Given the description of an element on the screen output the (x, y) to click on. 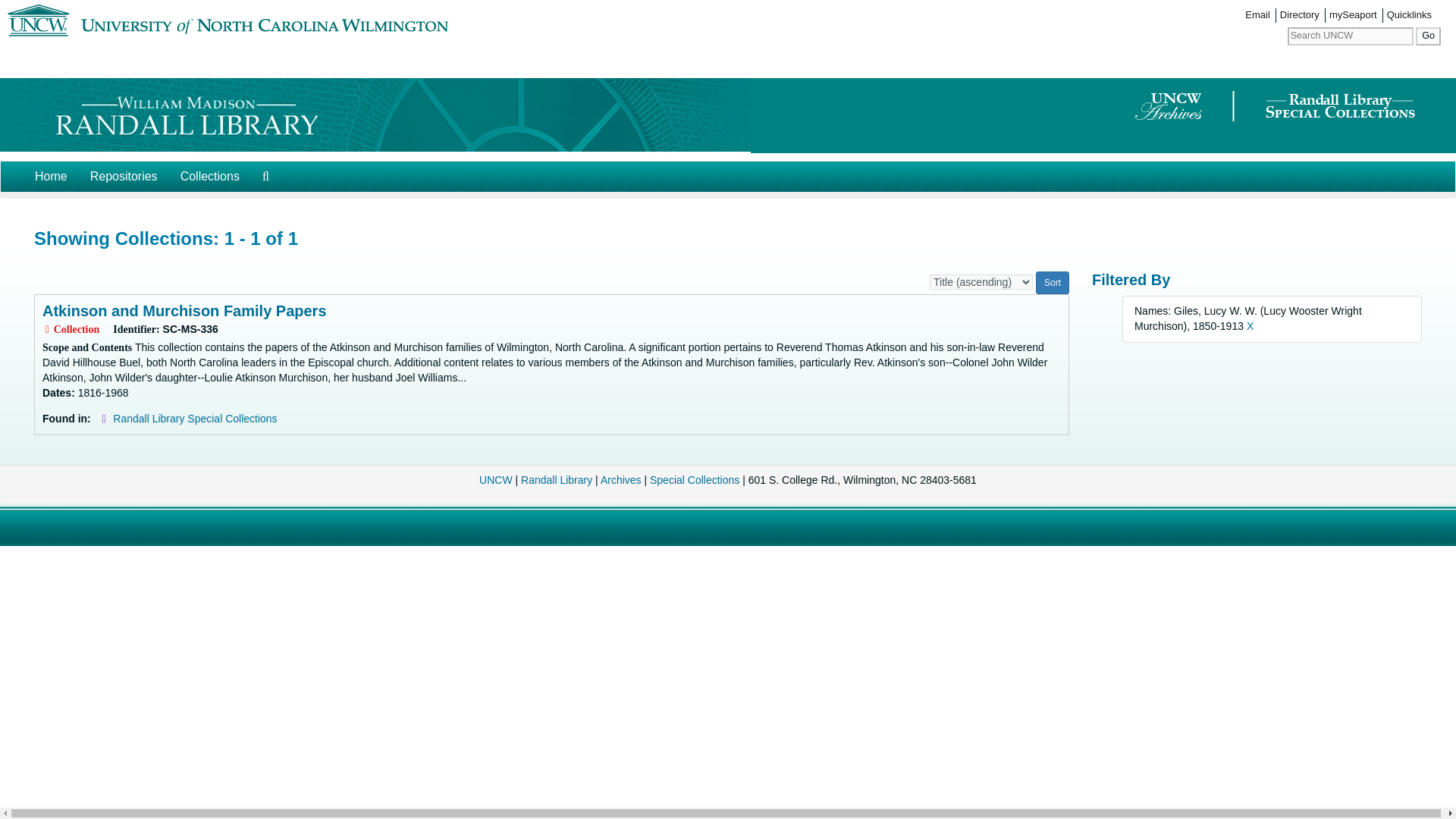
Sort (1051, 282)
Directory (1299, 15)
Sort (1051, 282)
Go (1428, 36)
Search The Archives (265, 176)
Randall Library Special Collections (194, 418)
Search The Archives (265, 176)
Email (1256, 15)
Collections (209, 176)
mySeaport (1353, 15)
Repositories (123, 176)
Home (50, 176)
Quicklinks (1409, 15)
Go (1428, 36)
Atkinson and Murchison Family Papers (184, 310)
